Given the description of an element on the screen output the (x, y) to click on. 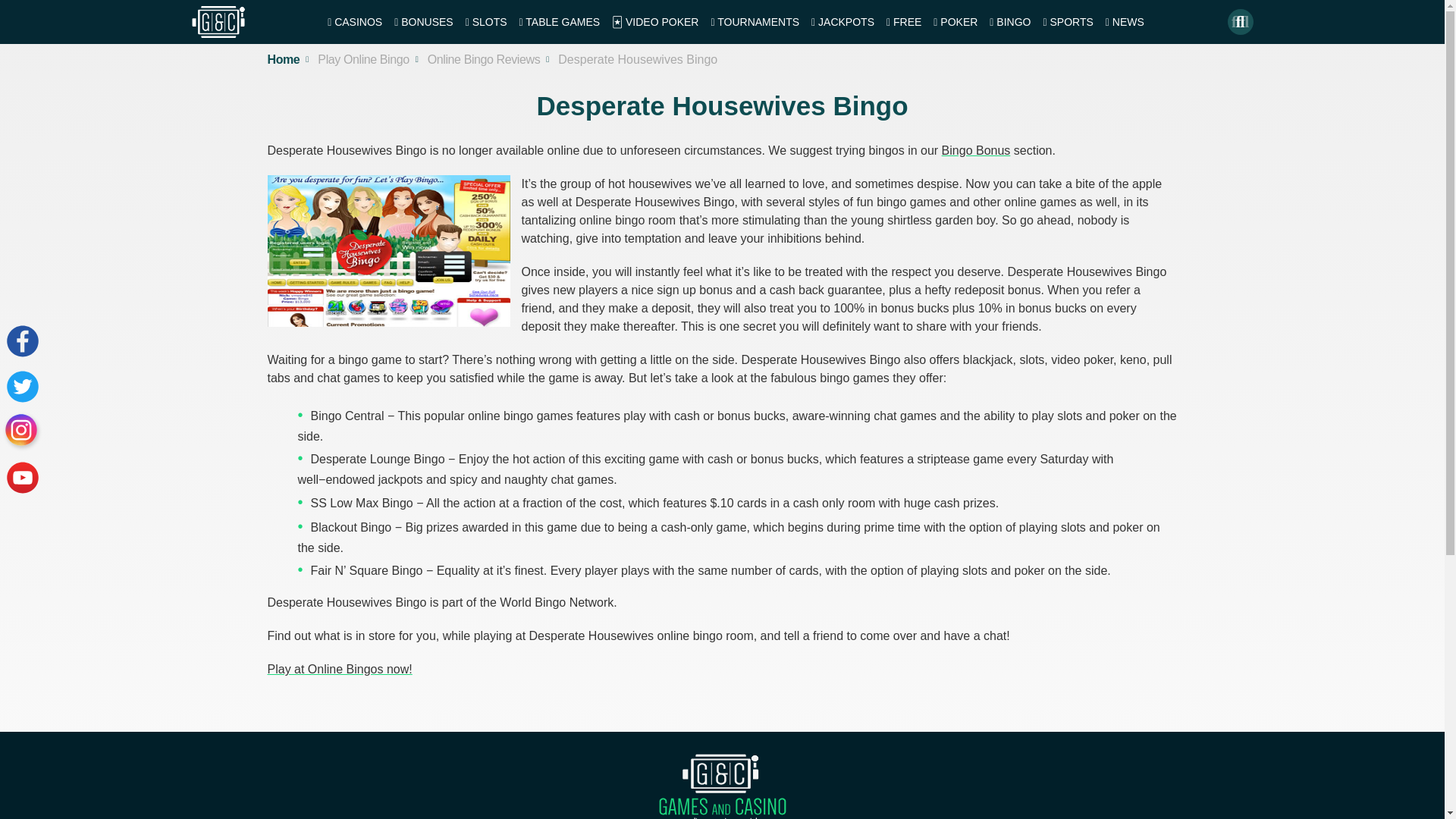
Games and Casinos - online casino guide (722, 785)
